Given the description of an element on the screen output the (x, y) to click on. 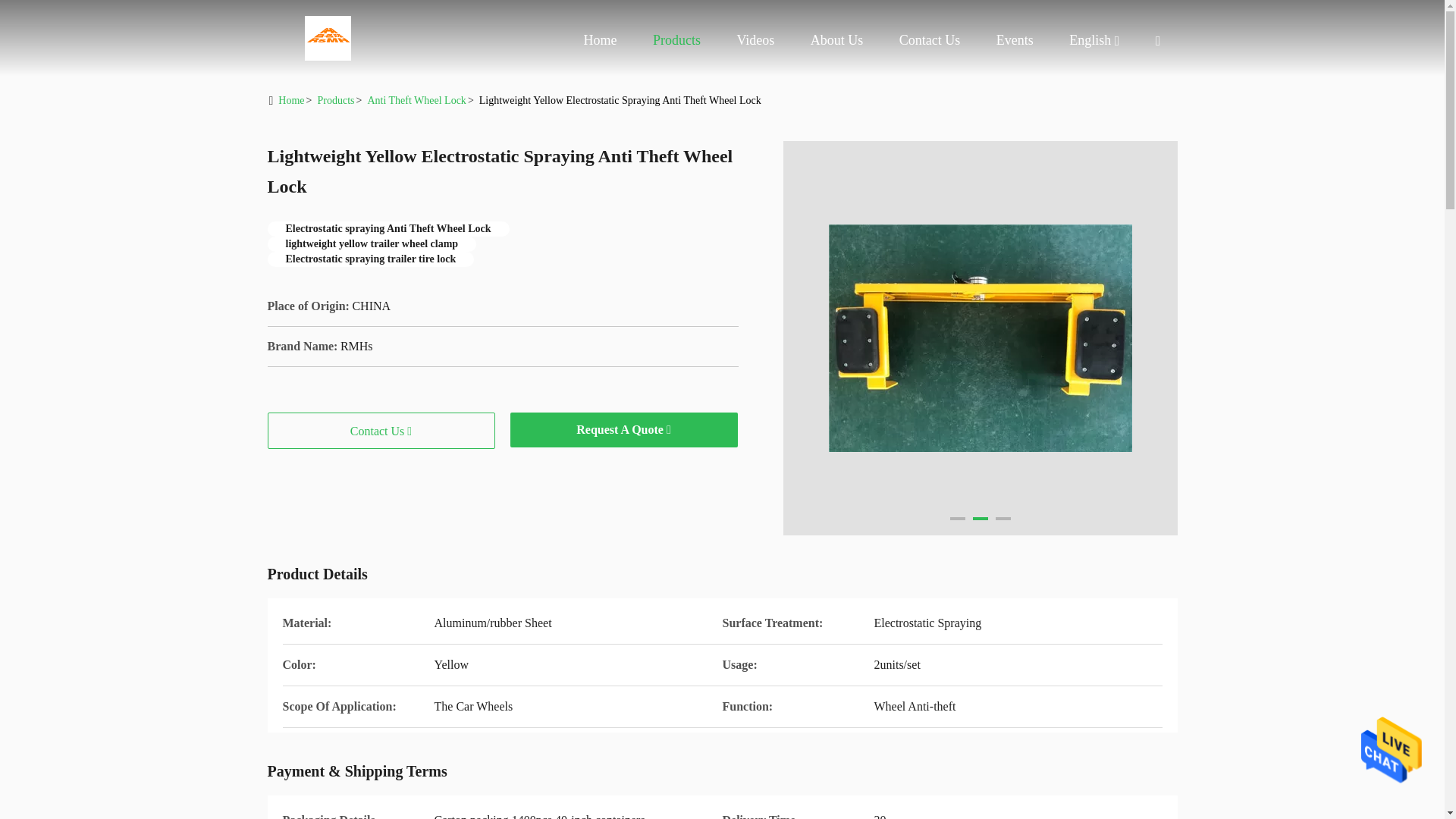
Products (676, 40)
Home (327, 37)
Contact Us (929, 40)
Products (676, 40)
About Us (836, 40)
About Us (836, 40)
